Given the description of an element on the screen output the (x, y) to click on. 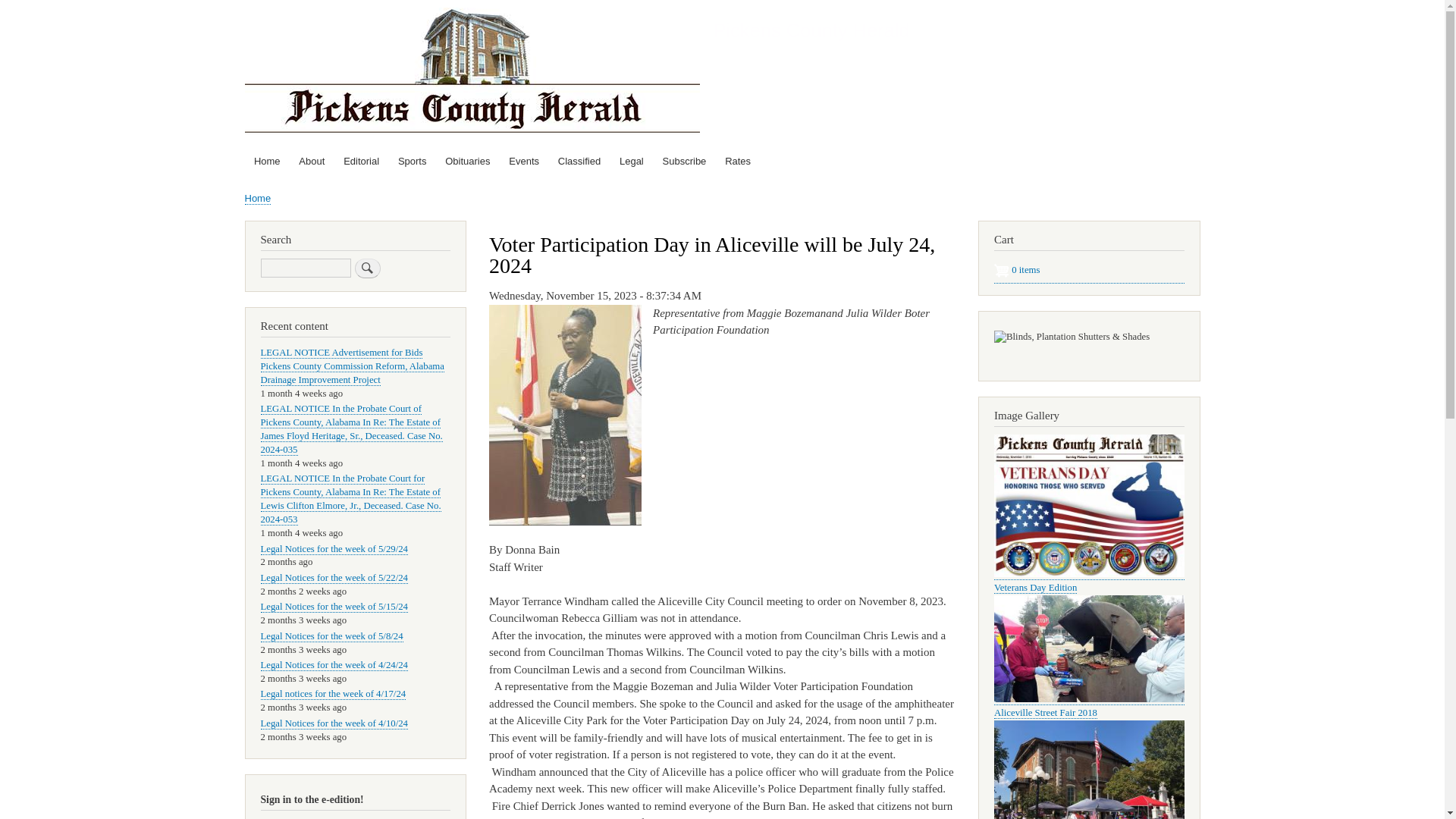
0 items (1089, 270)
Legal (631, 161)
Sports (411, 161)
Skip to main content (722, 1)
Events (523, 161)
Classified (579, 161)
Subscribe (683, 161)
Veterans Day Edition (1089, 573)
Home (810, 29)
